Given the description of an element on the screen output the (x, y) to click on. 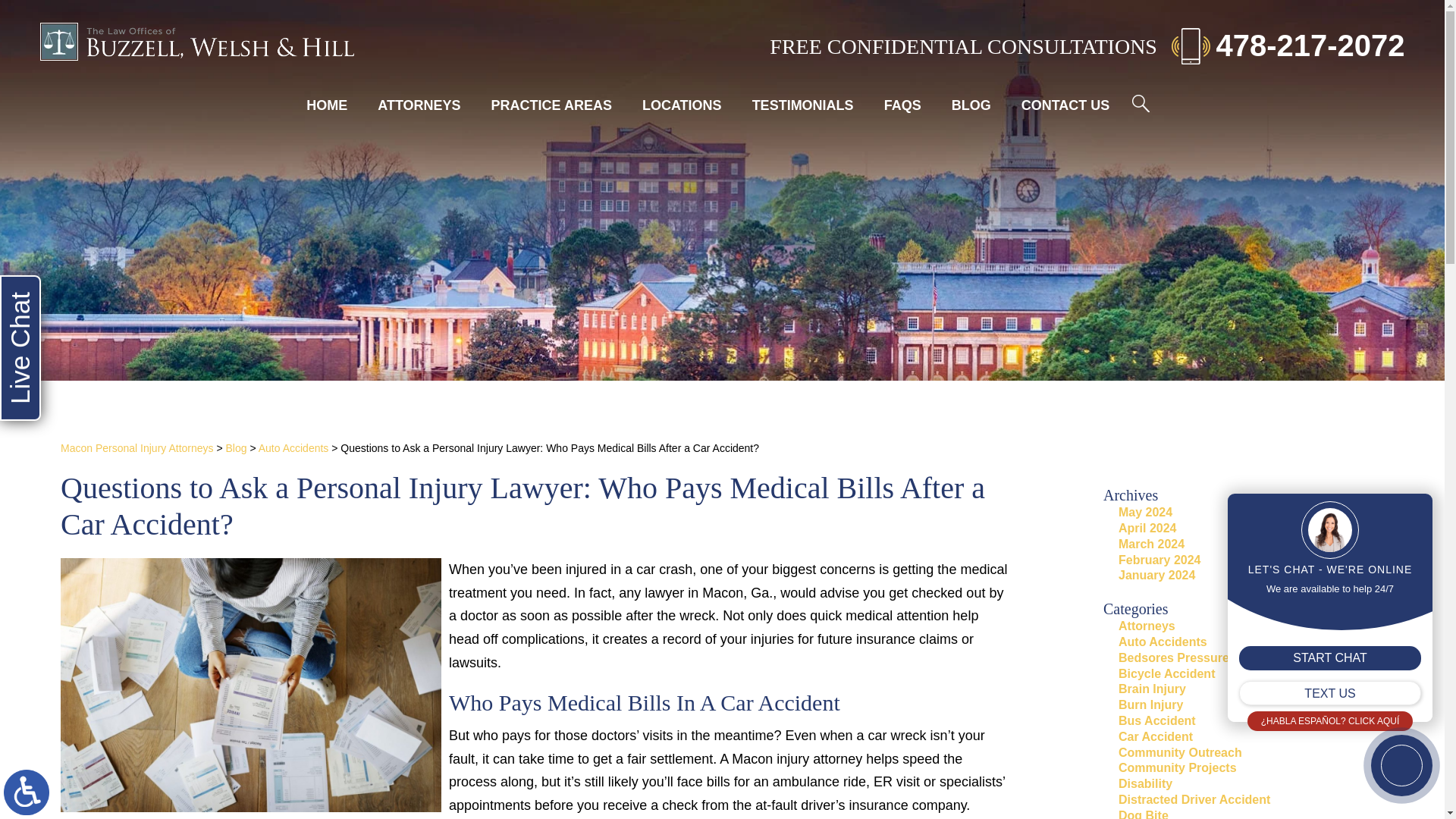
HOME (326, 104)
PRACTICE AREAS (551, 104)
Switch to ADA Accessible Website (26, 791)
478-217-2072 (1288, 45)
ATTORNEYS (419, 104)
